Given the description of an element on the screen output the (x, y) to click on. 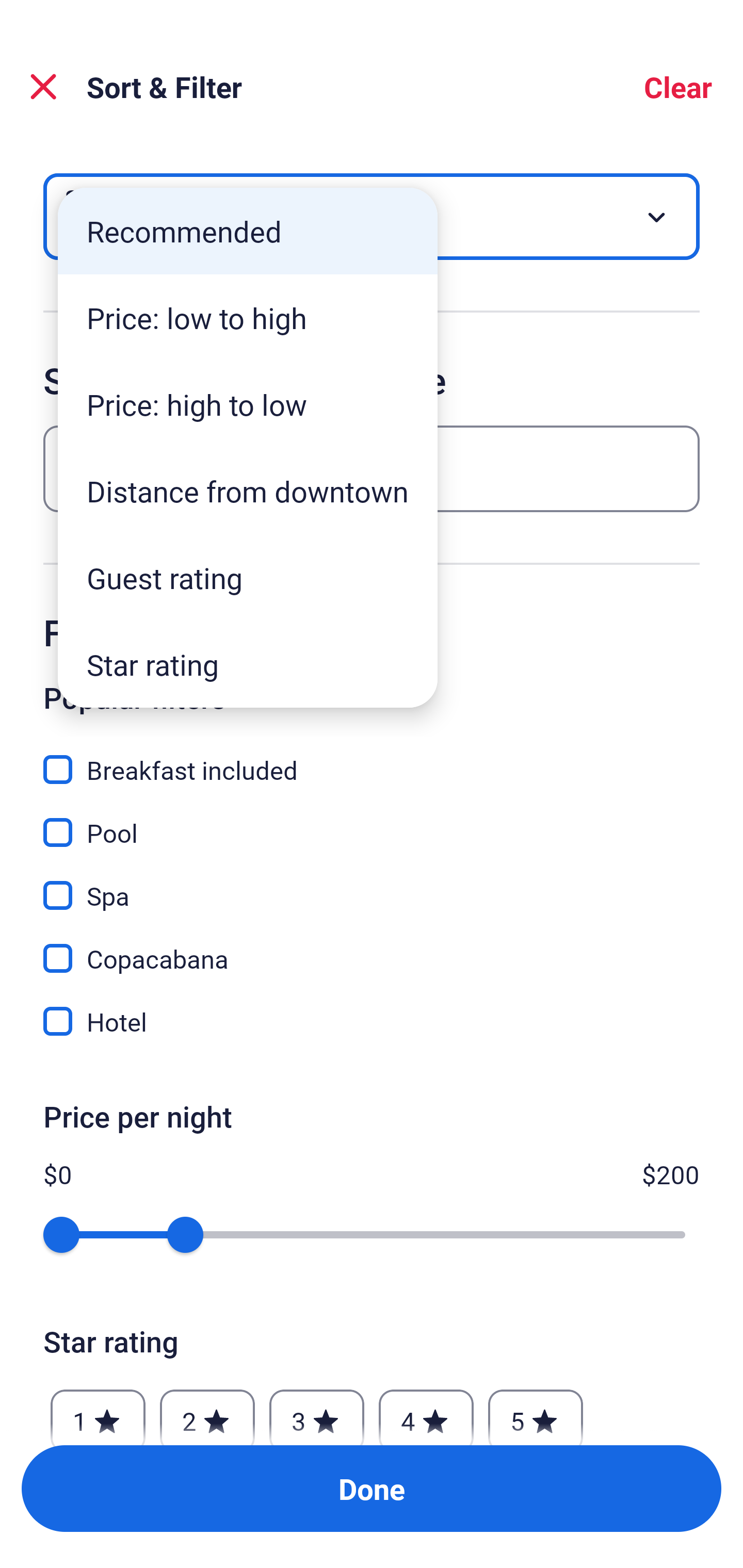
Price: low to high (247, 317)
Price: high to low (247, 404)
Distance from downtown (247, 491)
Guest rating (247, 577)
Star rating (247, 663)
